Given the description of an element on the screen output the (x, y) to click on. 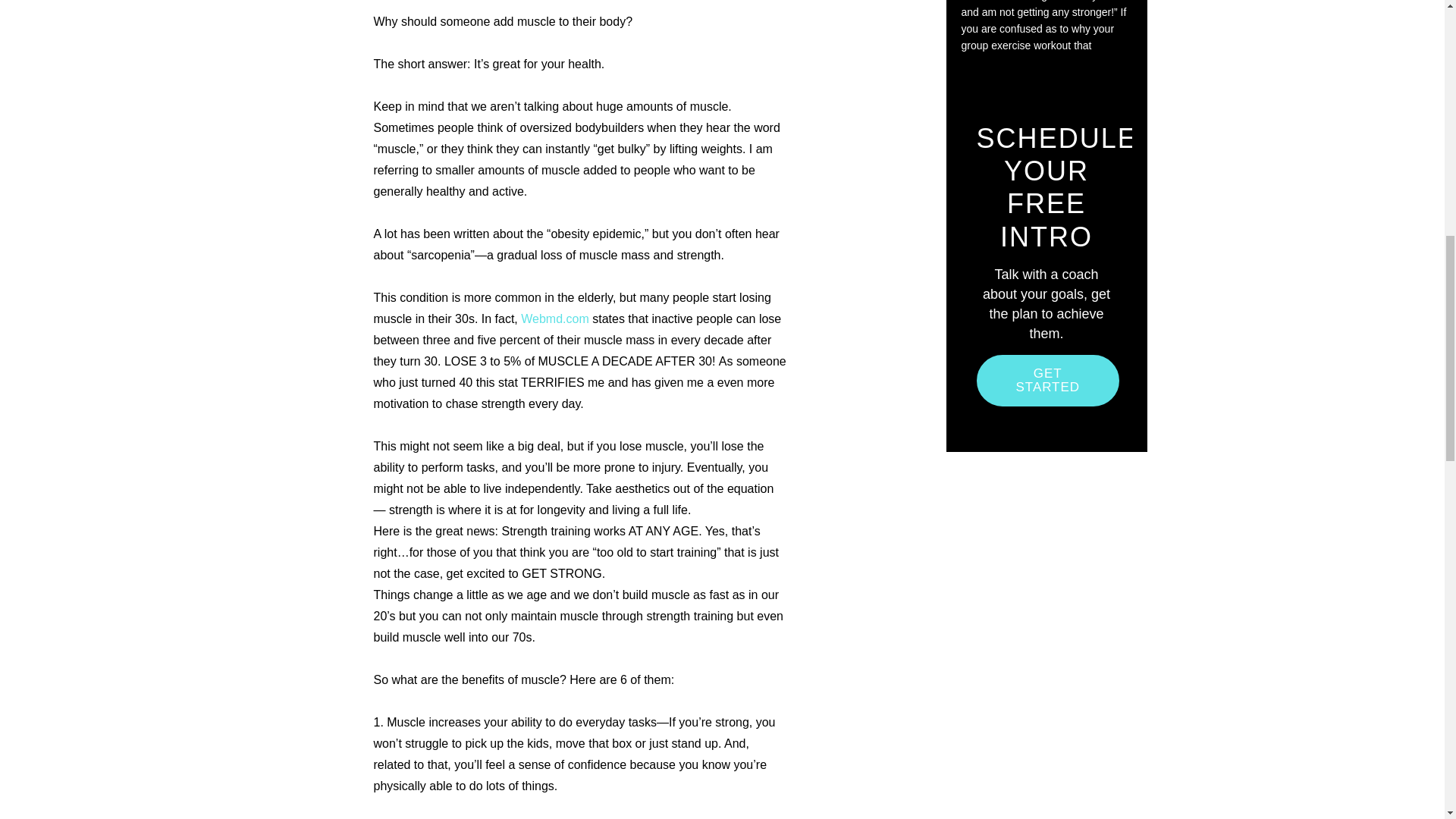
Webmd.com (555, 318)
GET STARTED (1047, 380)
